Given the description of an element on the screen output the (x, y) to click on. 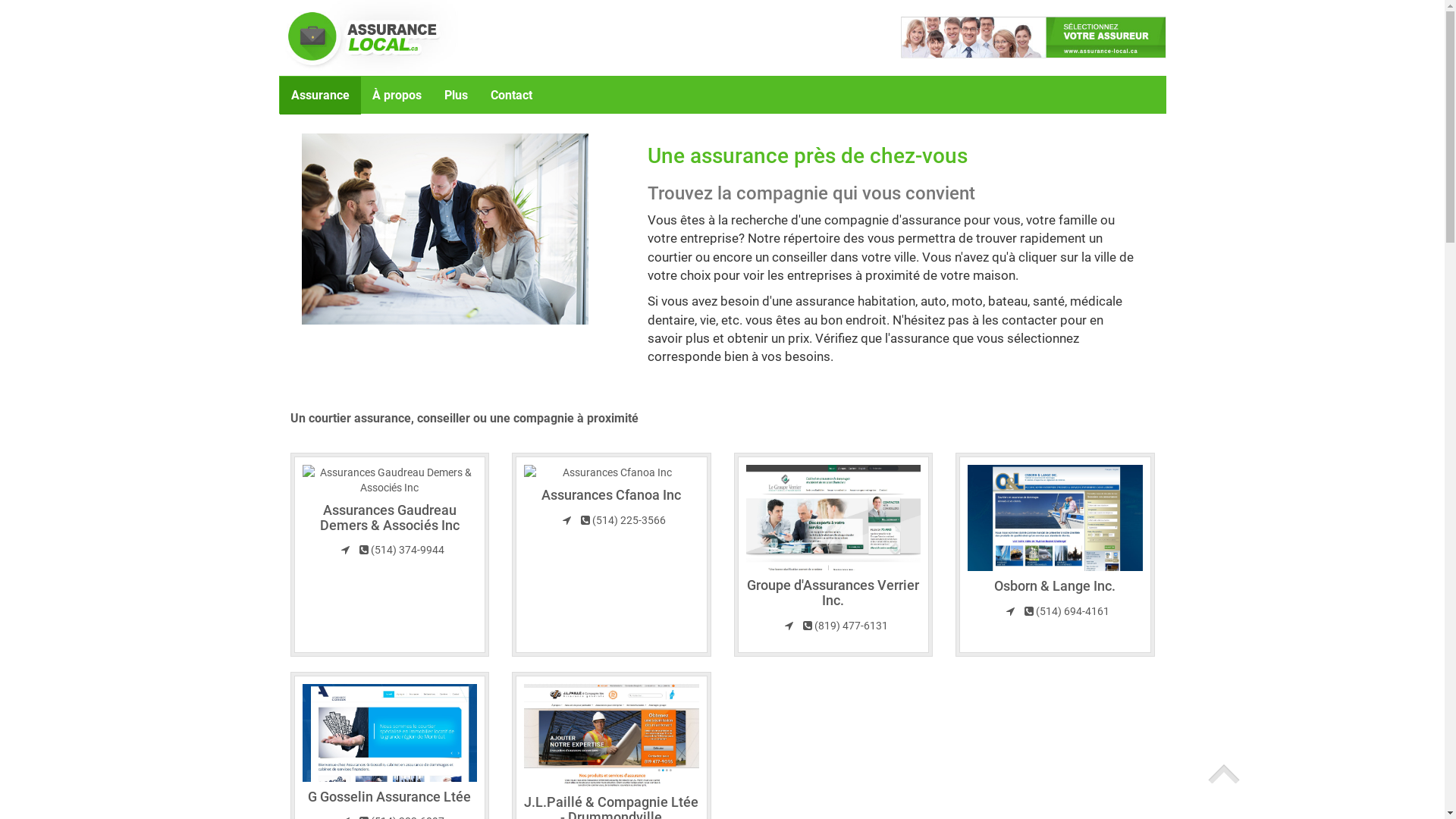
courtier assurance conseiller et compagnie Element type: hover (444, 228)
Assurance Local Element type: hover (458, 37)
Groupe d'Assurances Verrier Inc. Element type: text (832, 592)
Osborn & Lange Inc. Element type: text (1054, 585)
Assurance Element type: text (319, 95)
Assurances Cfanoa Inc Element type: text (610, 494)
Contact Element type: text (511, 95)
Plus Element type: text (455, 95)
